Given the description of an element on the screen output the (x, y) to click on. 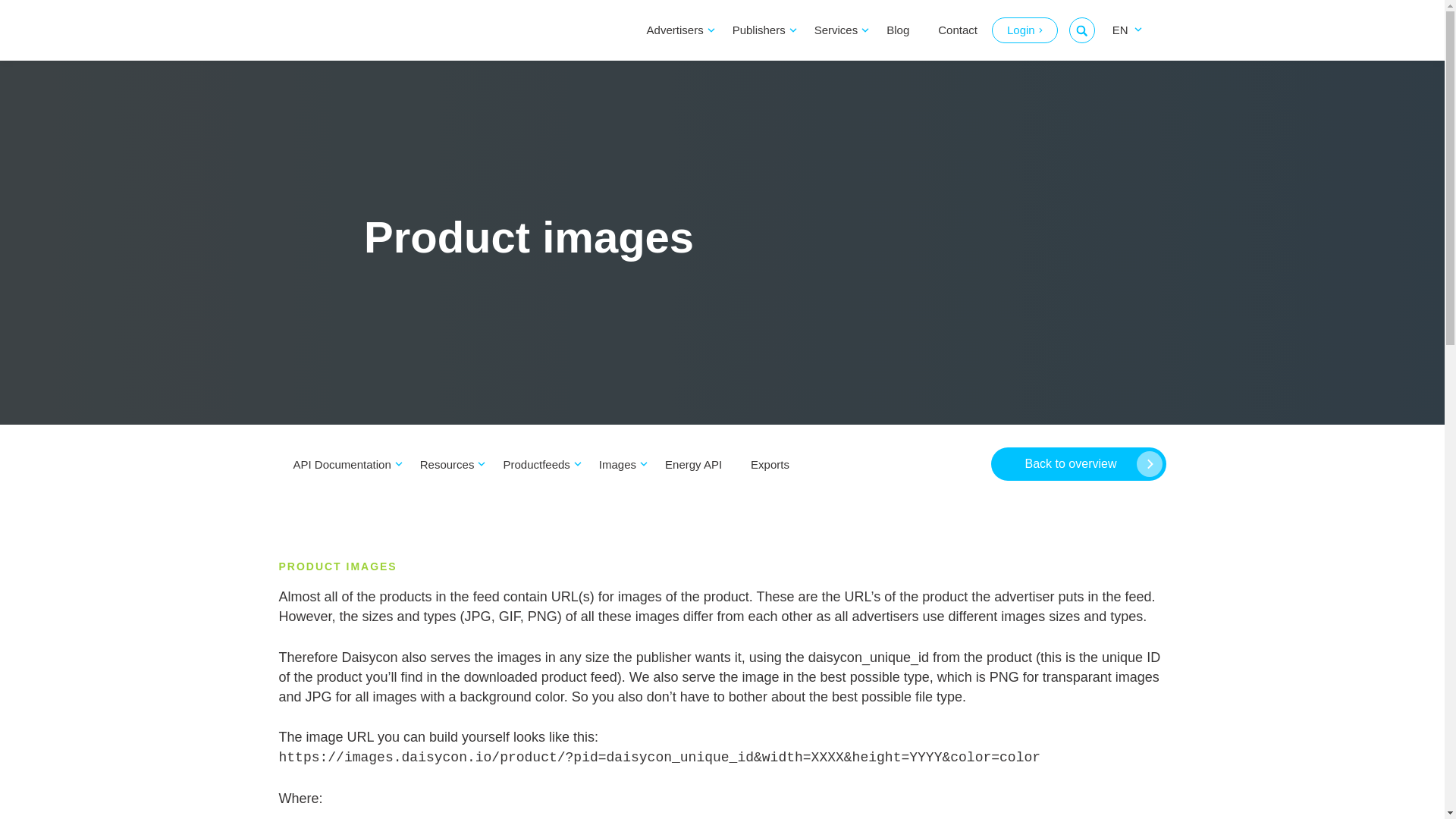
Publishers (758, 30)
Daisycon (373, 30)
Blog (897, 30)
Search for (1081, 30)
API Documentation (342, 463)
Login (1024, 30)
Resources (447, 463)
EN (1121, 29)
Services (835, 30)
Advertisers (674, 30)
